Given the description of an element on the screen output the (x, y) to click on. 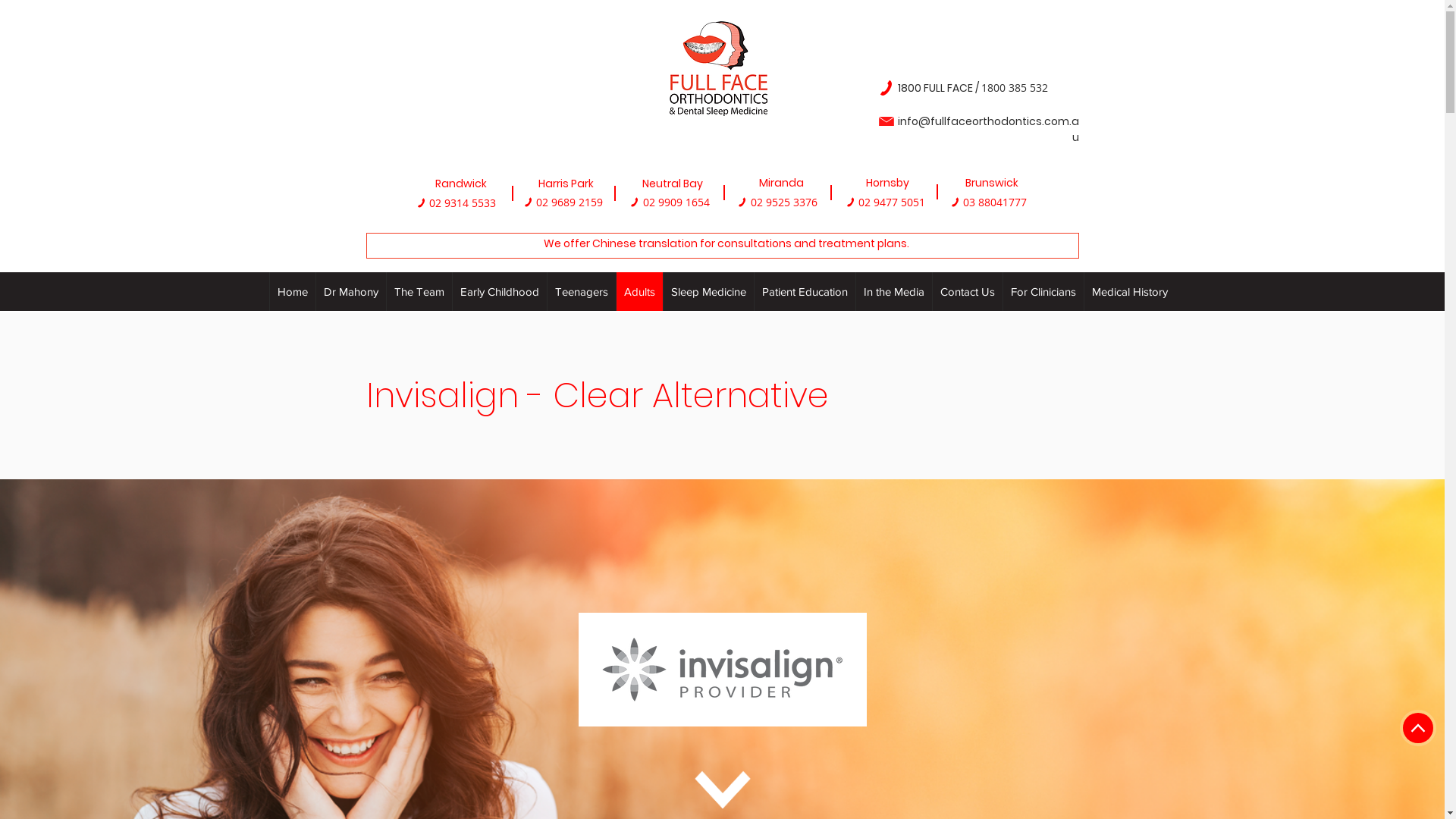
1800 FULL FACE / 1800 385 532 Element type: text (972, 87)
Home Element type: text (292, 291)
02 9909 1654 Element type: text (676, 201)
Medical History Element type: text (1129, 291)
The Team Element type: text (418, 291)
Teenagers Element type: text (580, 291)
02 9314 5533 Element type: text (462, 202)
03 88041777 Element type: text (994, 201)
Sleep Medicine Element type: text (707, 291)
02 9525 3376 Element type: text (783, 201)
Adults Element type: text (638, 291)
Dr Mahony Element type: text (350, 291)
Contact Us Element type: text (966, 291)
In the Media Element type: text (893, 291)
Patient Education Element type: text (804, 291)
Early Childhood Element type: text (498, 291)
02 9689 2159 Element type: text (568, 201)
02 9477 5051 Element type: text (891, 201)
For Clinicians Element type: text (1042, 291)
Back To Top Element type: hover (1417, 727)
info@fullfaceorthodontics.com.au Element type: text (988, 128)
